Given the description of an element on the screen output the (x, y) to click on. 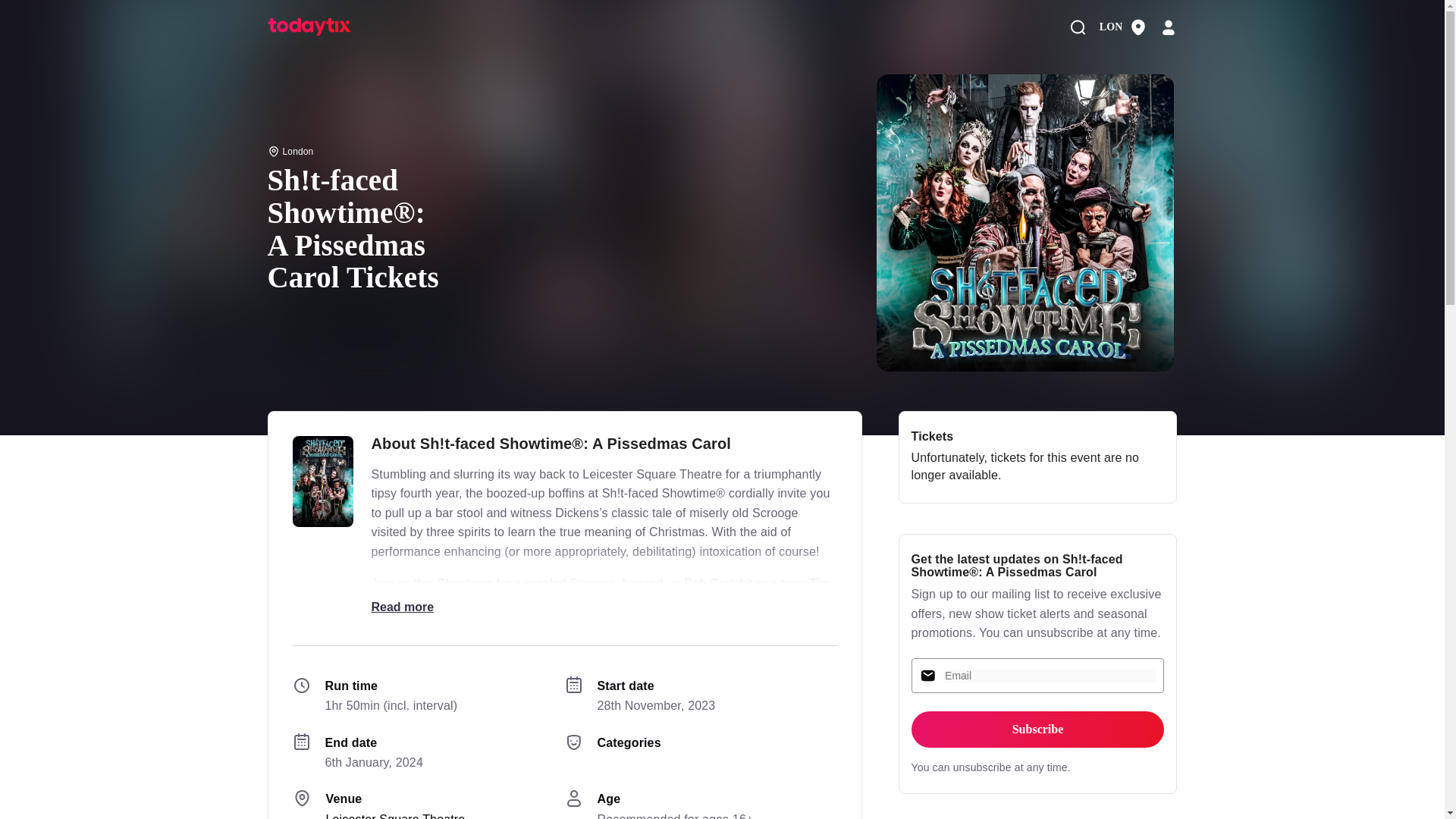
Read more (402, 607)
Leicester Square Theatre (395, 816)
Subscribe (1037, 729)
